Given the description of an element on the screen output the (x, y) to click on. 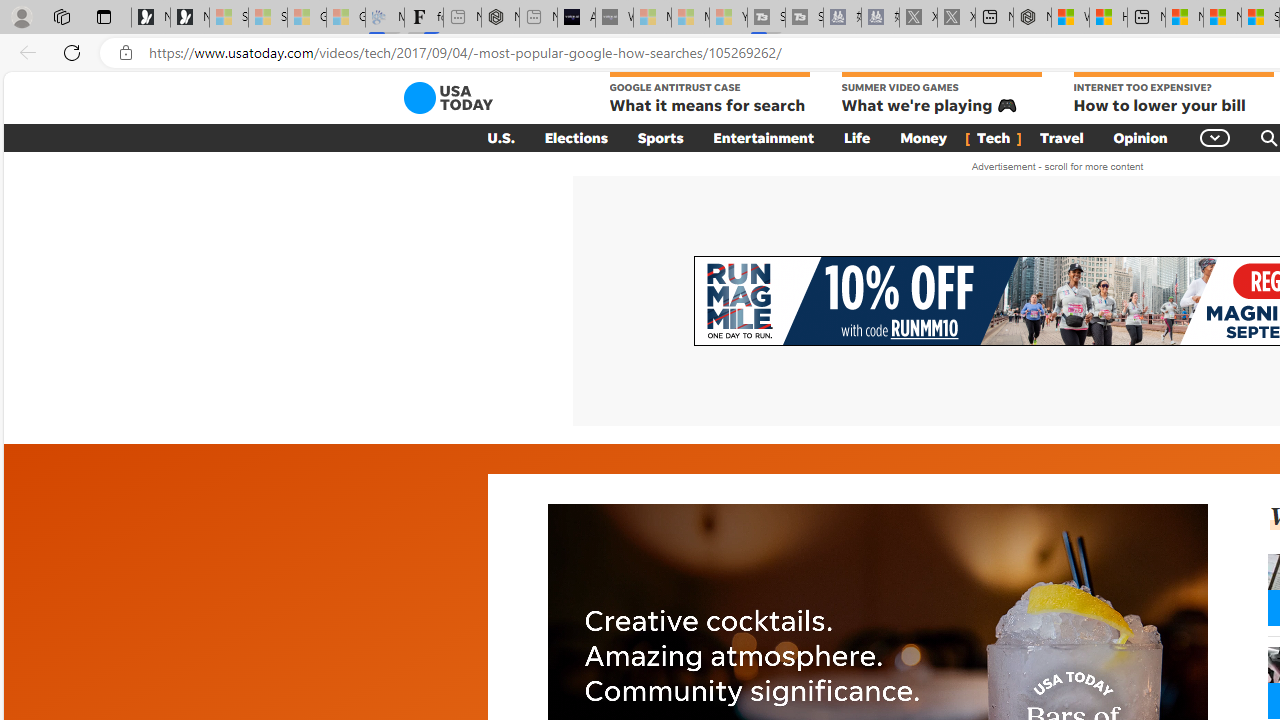
Opinion (1140, 137)
Class: gnt_n_dd_bt_svg (1215, 137)
GOOGLE ANTITRUST CASE What it means for search (709, 94)
AI Voice Changer for PC and Mac - Voice.ai (576, 17)
Nordace - My Account (1031, 17)
What's the best AI voice generator? - voice.ai - Sleeping (614, 17)
